Given the description of an element on the screen output the (x, y) to click on. 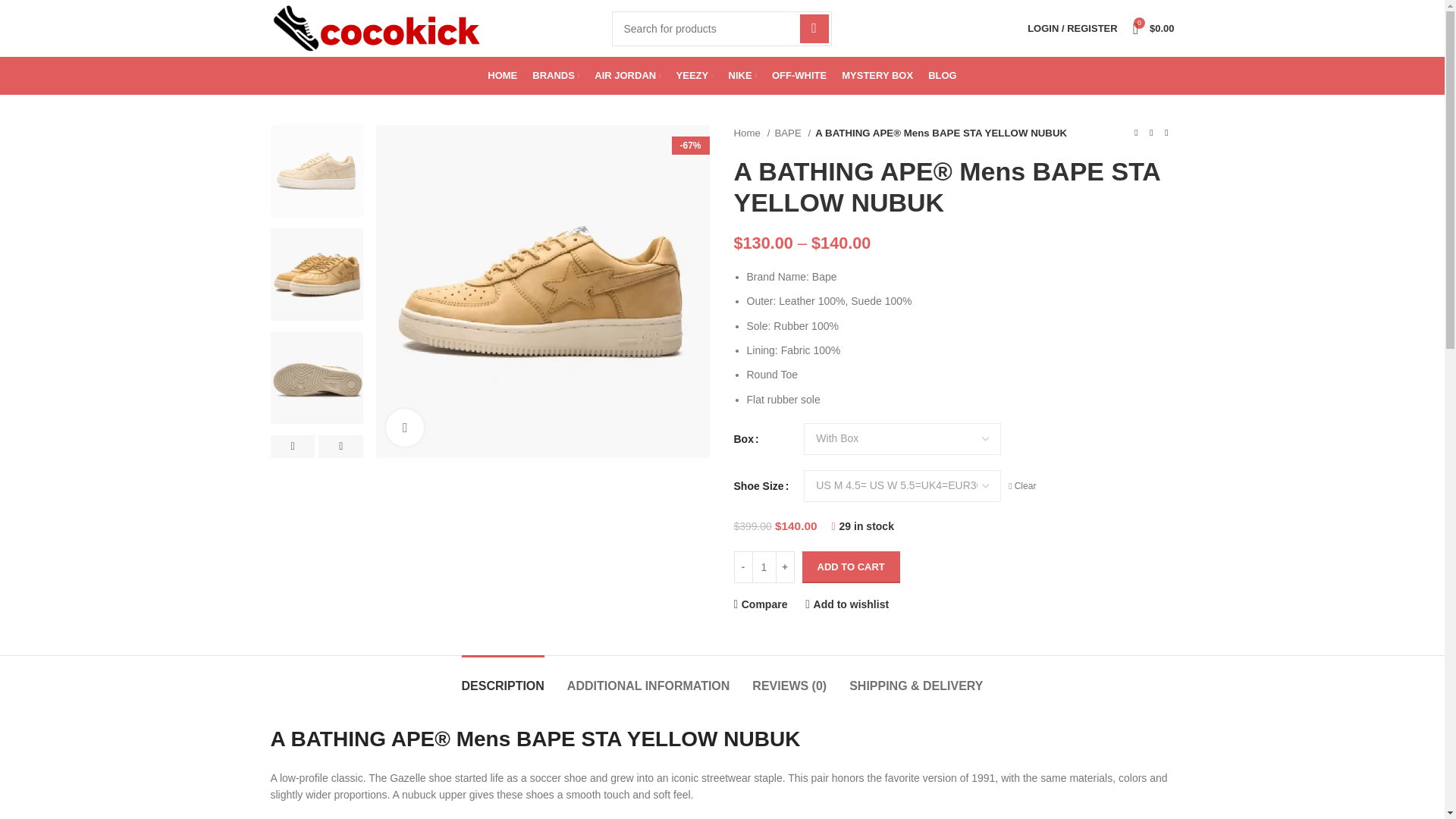
YEEZY (695, 75)
Search for products (721, 27)
BRANDS (555, 75)
Shopping cart (1153, 28)
My account (1072, 28)
AIR JORDAN (627, 75)
SEARCH (813, 27)
HOME (501, 75)
